Given the description of an element on the screen output the (x, y) to click on. 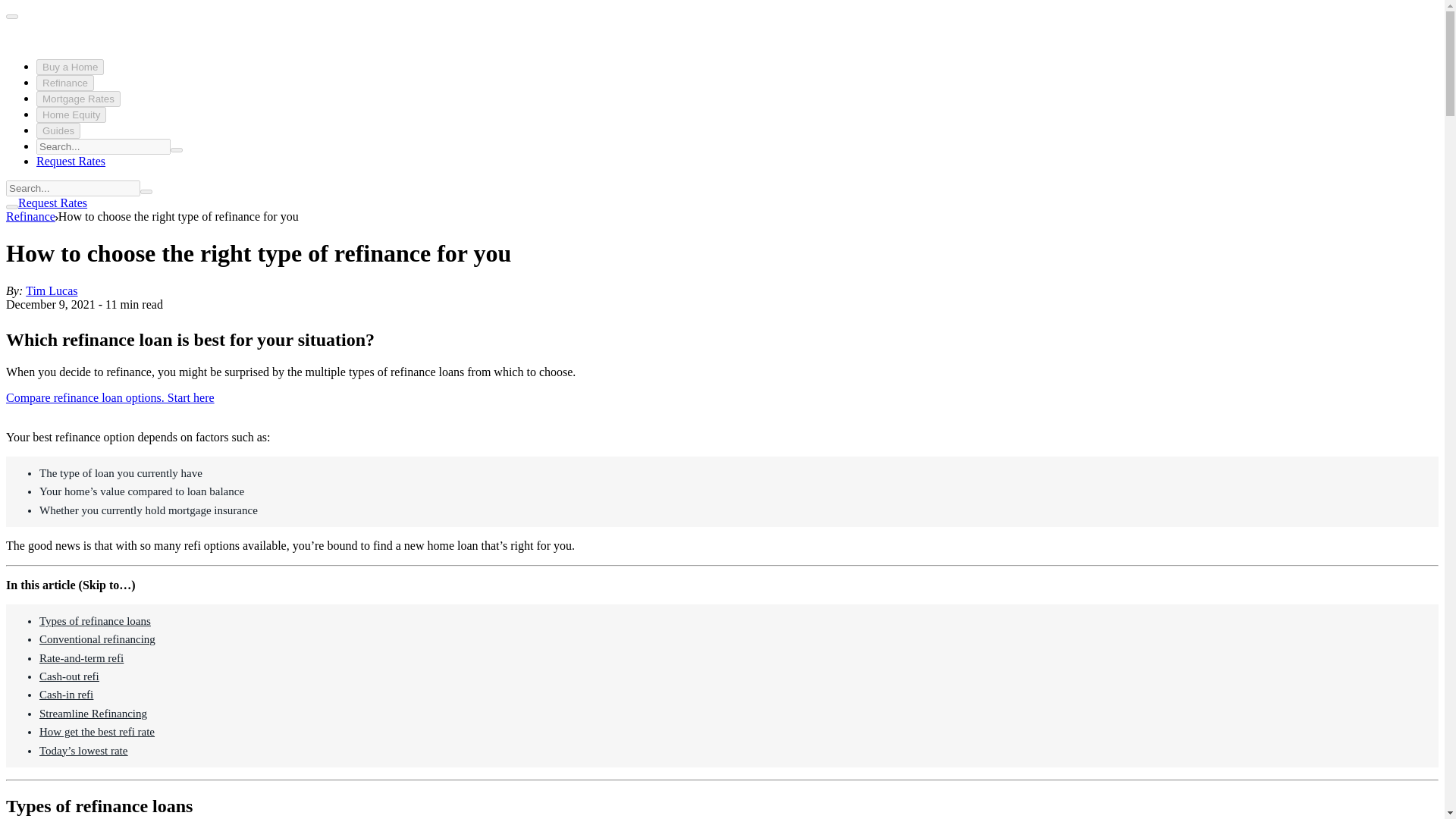
Buy a Home (69, 66)
Refinance (65, 82)
By Tim Lucas (51, 290)
